Given the description of an element on the screen output the (x, y) to click on. 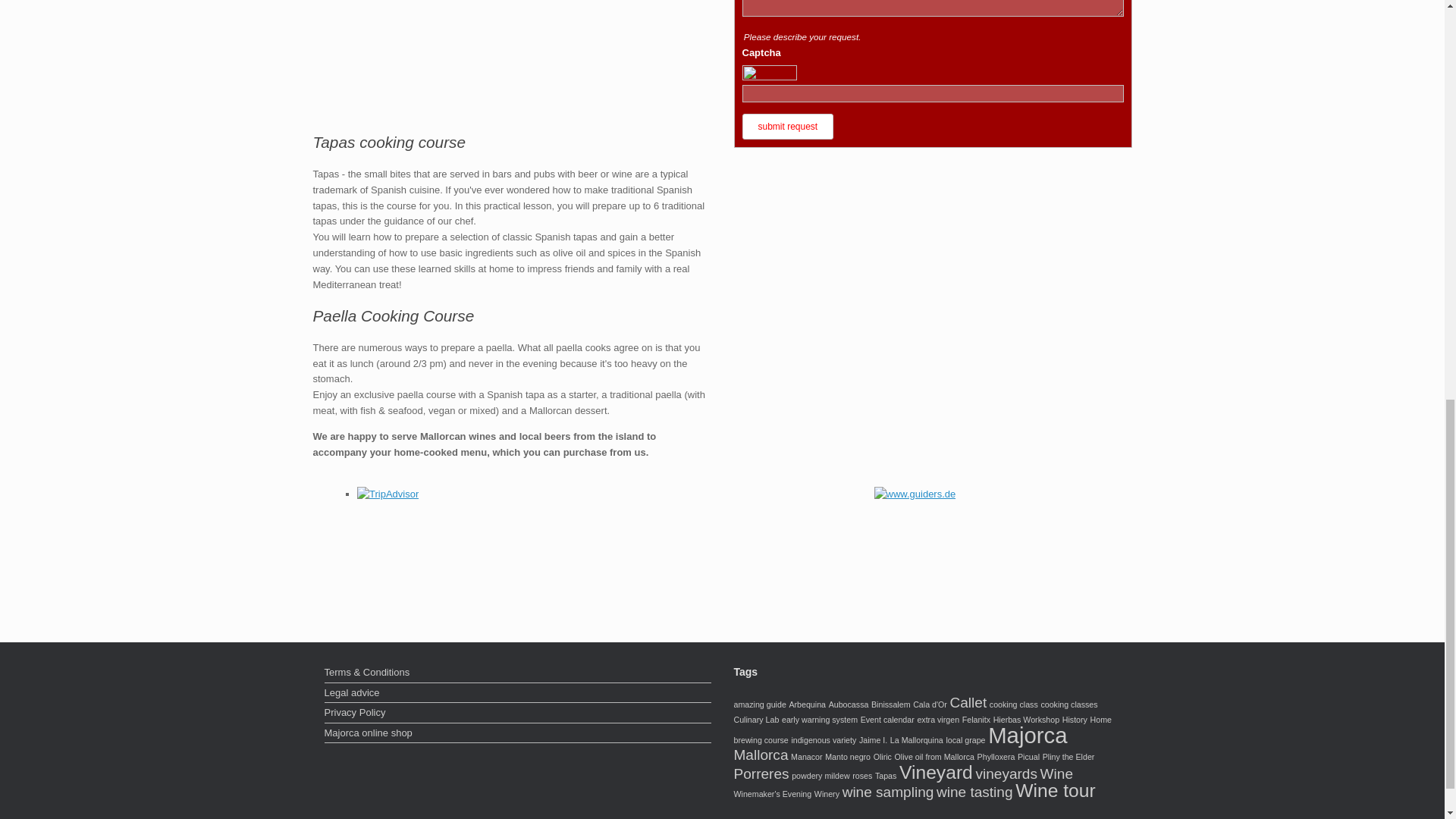
wp-1647520685548.jpg (511, 54)
Legal advice (517, 694)
www.guiders.de (914, 494)
submit request (786, 126)
